Given the description of an element on the screen output the (x, y) to click on. 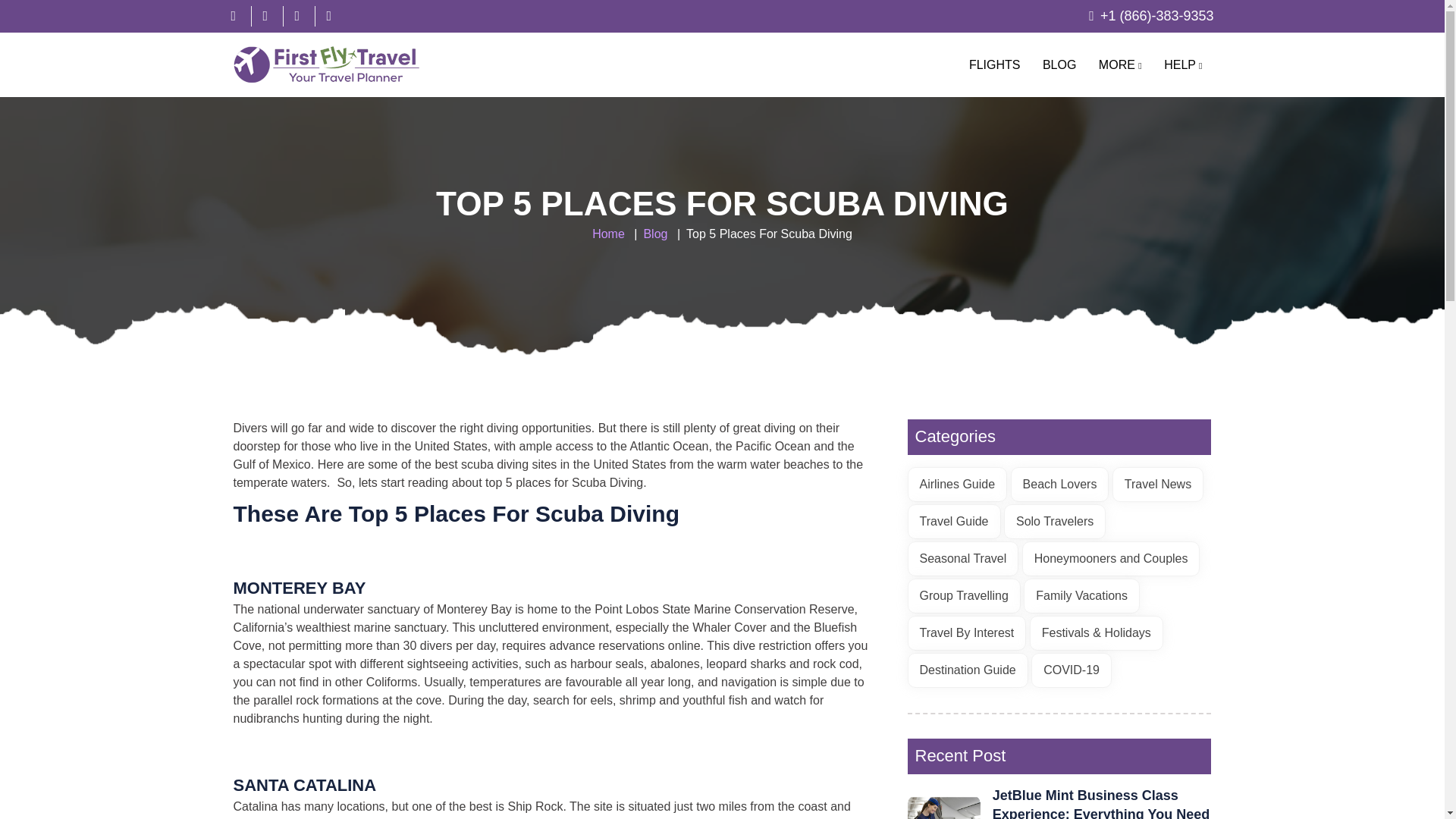
FLIGHTS (993, 63)
MORE (1120, 63)
BLOG (1059, 63)
HELP (1182, 63)
